Given the description of an element on the screen output the (x, y) to click on. 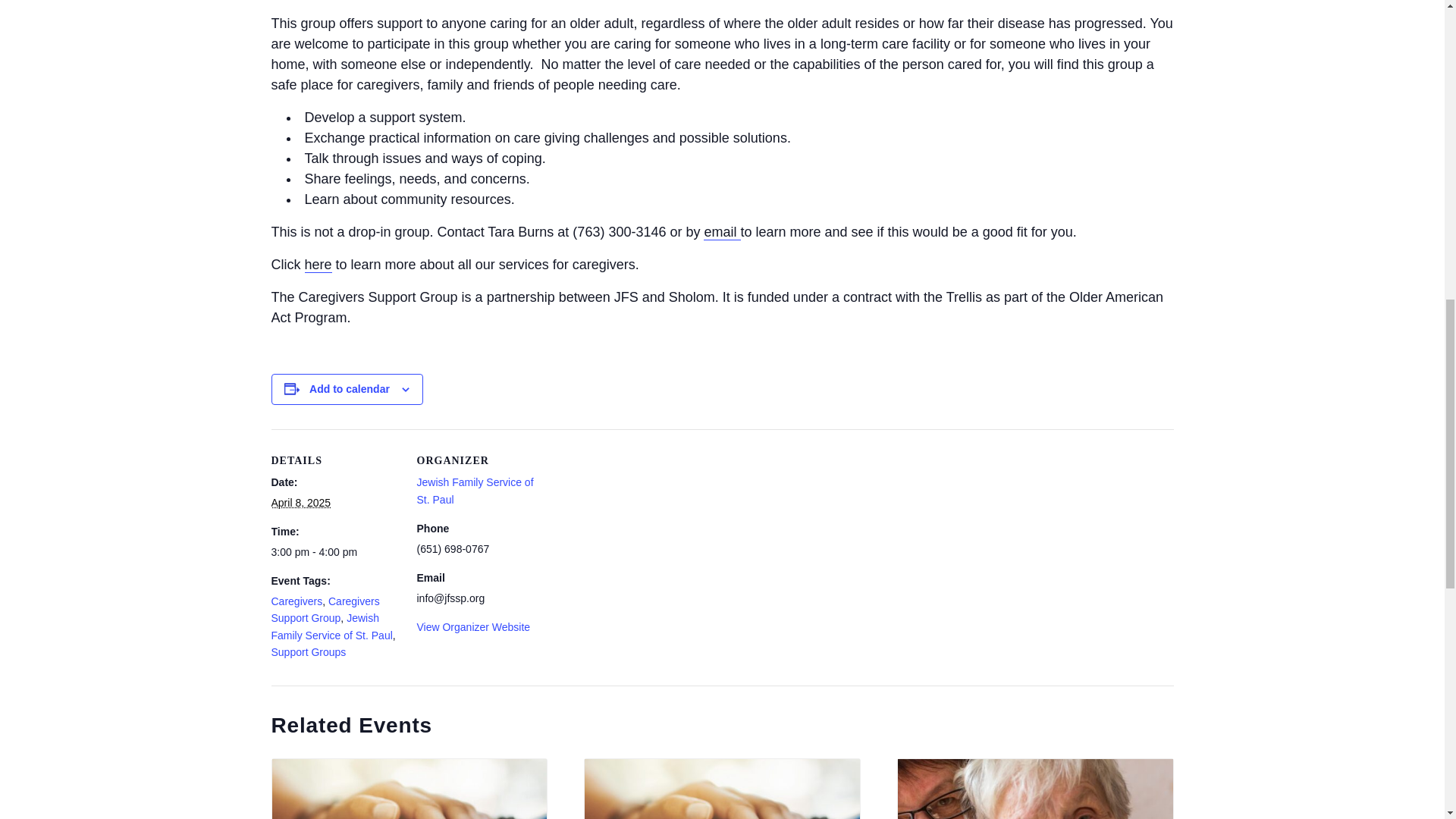
here (317, 264)
Jewish Family Service of St. Paul (475, 490)
Jewish Family Service of St. Paul (331, 625)
Caregivers (296, 601)
2025-04-08 (300, 502)
Jewish Family Service of St. Paul (475, 490)
email  (721, 232)
Support Groups (308, 652)
2025-04-08 (334, 551)
Caregivers Support Group (325, 609)
Add to calendar (349, 388)
